Given the description of an element on the screen output the (x, y) to click on. 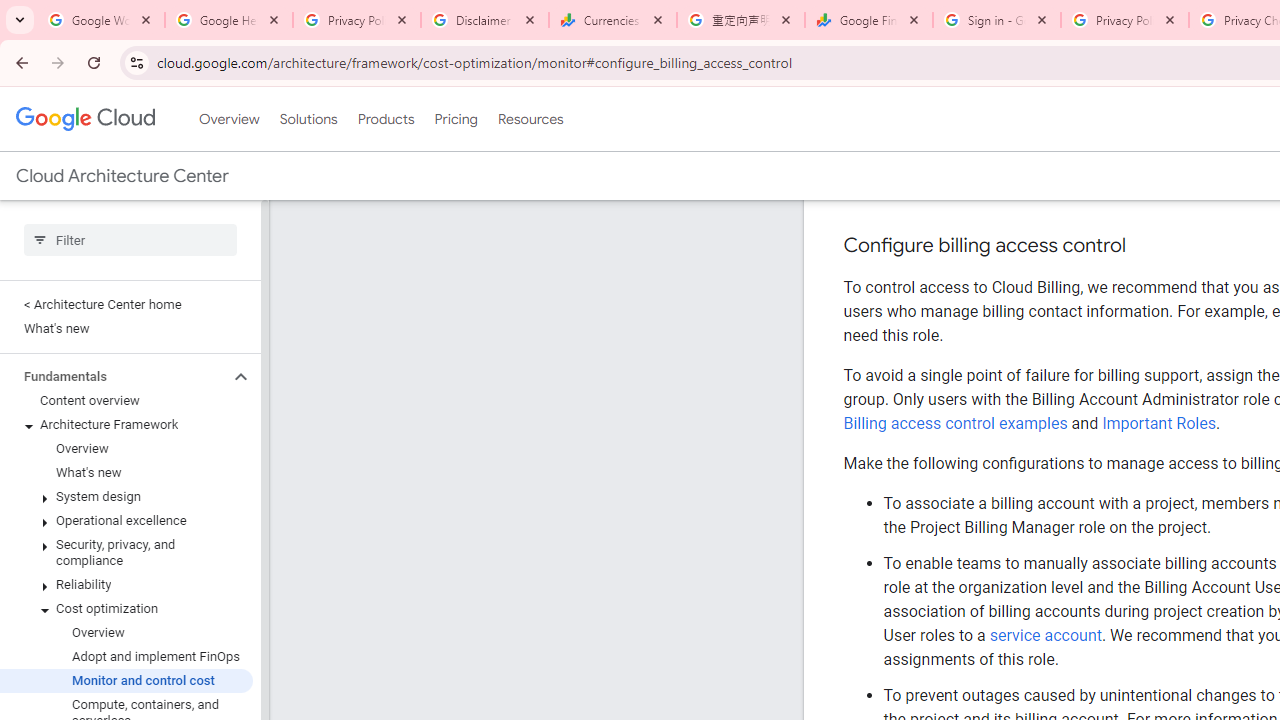
Copy link to this section: Configure billing access control (1145, 246)
service account (1045, 635)
Security, privacy, and compliance (126, 552)
What's new (126, 472)
Adopt and implement FinOps (126, 656)
< Architecture Center home (126, 304)
Google Workspace Admin Community (101, 20)
Architecture Framework (126, 425)
Important Roles (1159, 422)
